Given the description of an element on the screen output the (x, y) to click on. 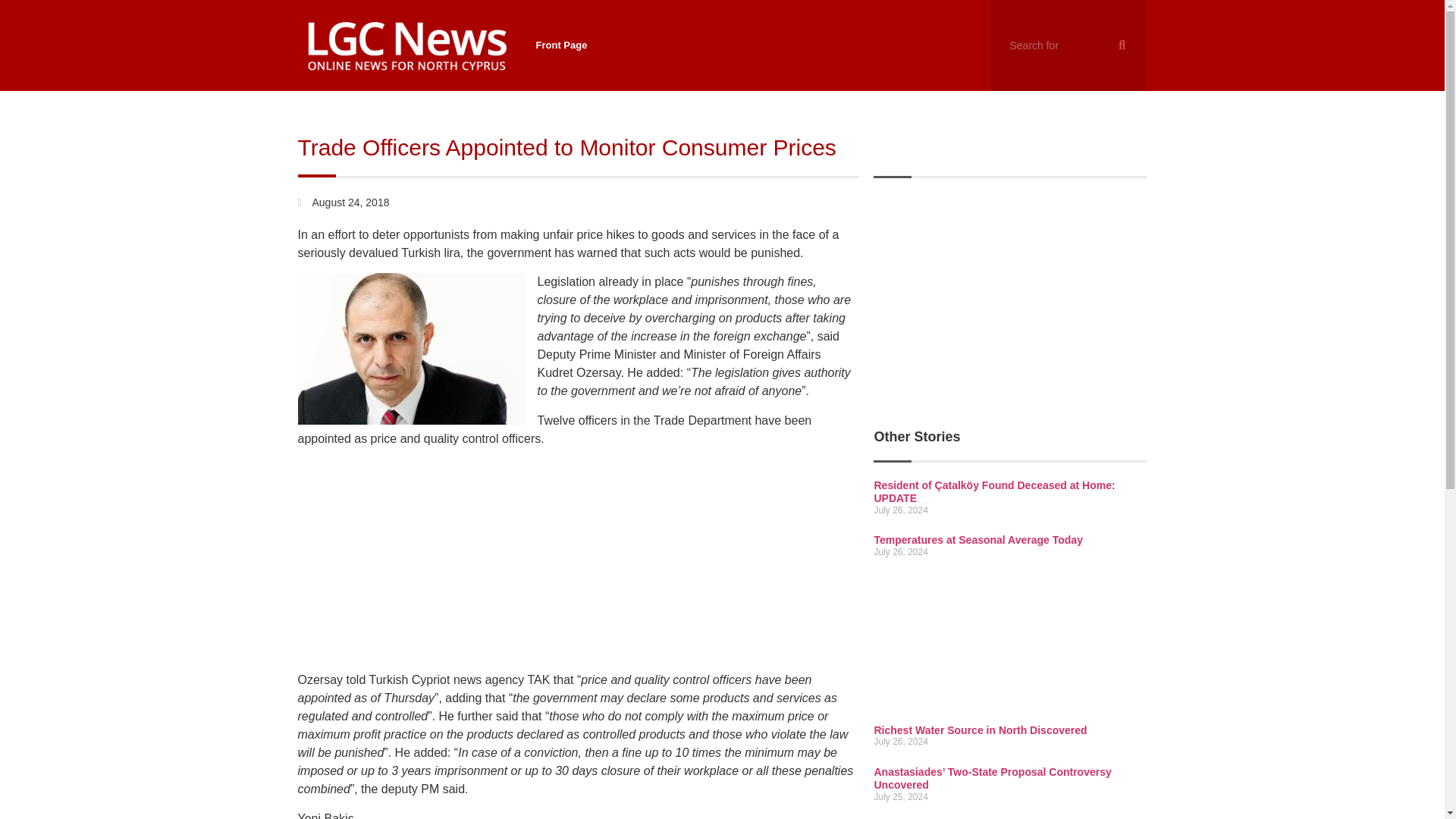
Advertisement (1010, 646)
Advertisement (578, 564)
Temperatures at Seasonal Average Today (977, 539)
August 24, 2018 (342, 202)
Advertisement (1010, 300)
Richest Water Source in North Discovered (979, 729)
Front Page (560, 45)
